Given the description of an element on the screen output the (x, y) to click on. 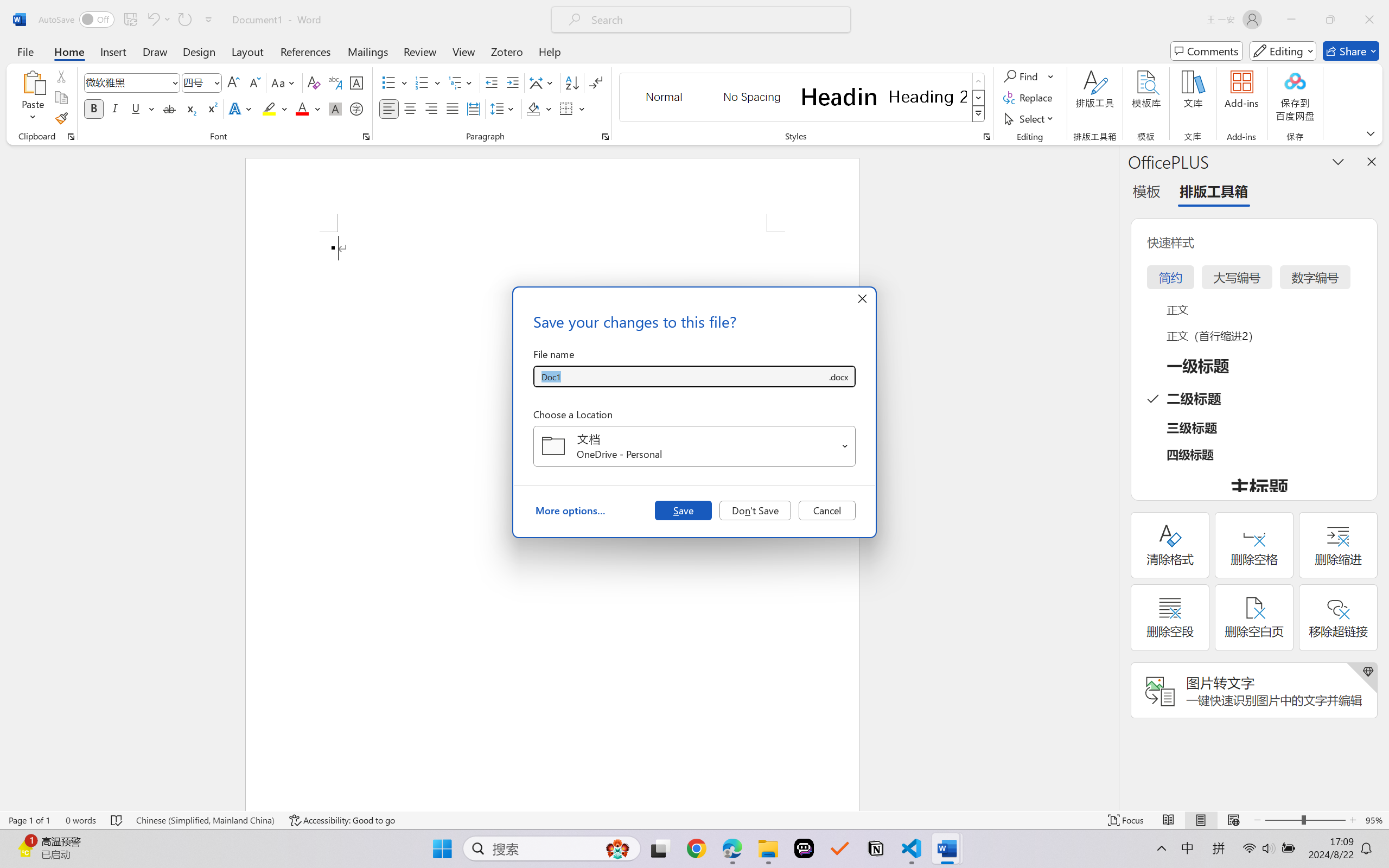
Save as type (837, 376)
Undo <ApplyStyleToDoc>b__0 (158, 19)
Google Chrome (696, 848)
